Given the description of an element on the screen output the (x, y) to click on. 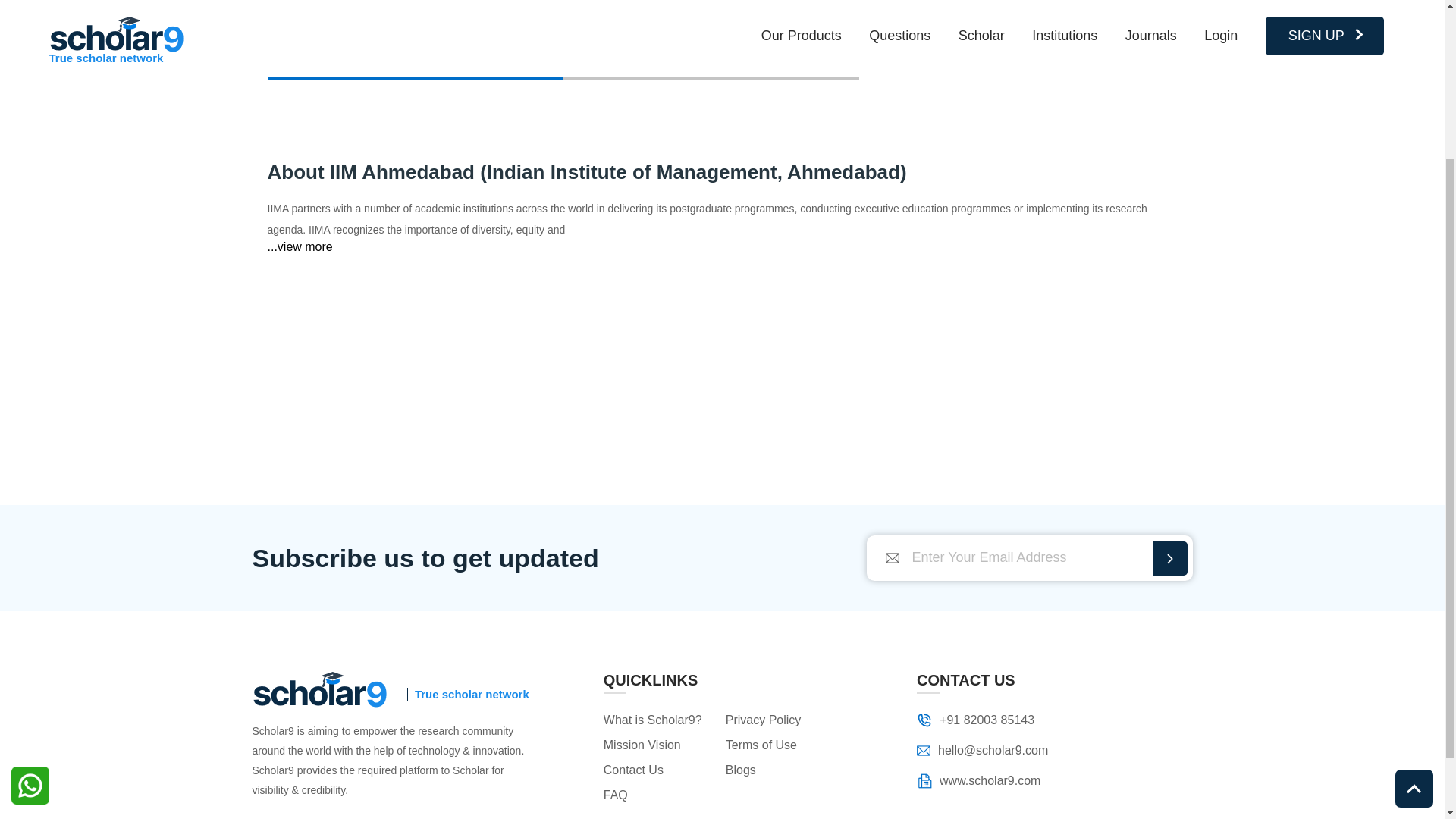
Blogs (778, 769)
Scholars (710, 56)
Logo (924, 780)
Privacy Policy (778, 719)
Logo (923, 749)
logo (319, 690)
Publications (414, 56)
Mission Vision (657, 744)
submit (1169, 558)
FAQ (657, 794)
What is Scholar9? (657, 719)
Terms of Use (778, 744)
www.scholar9.com (982, 780)
submit (1169, 558)
Logo (319, 689)
